Given the description of an element on the screen output the (x, y) to click on. 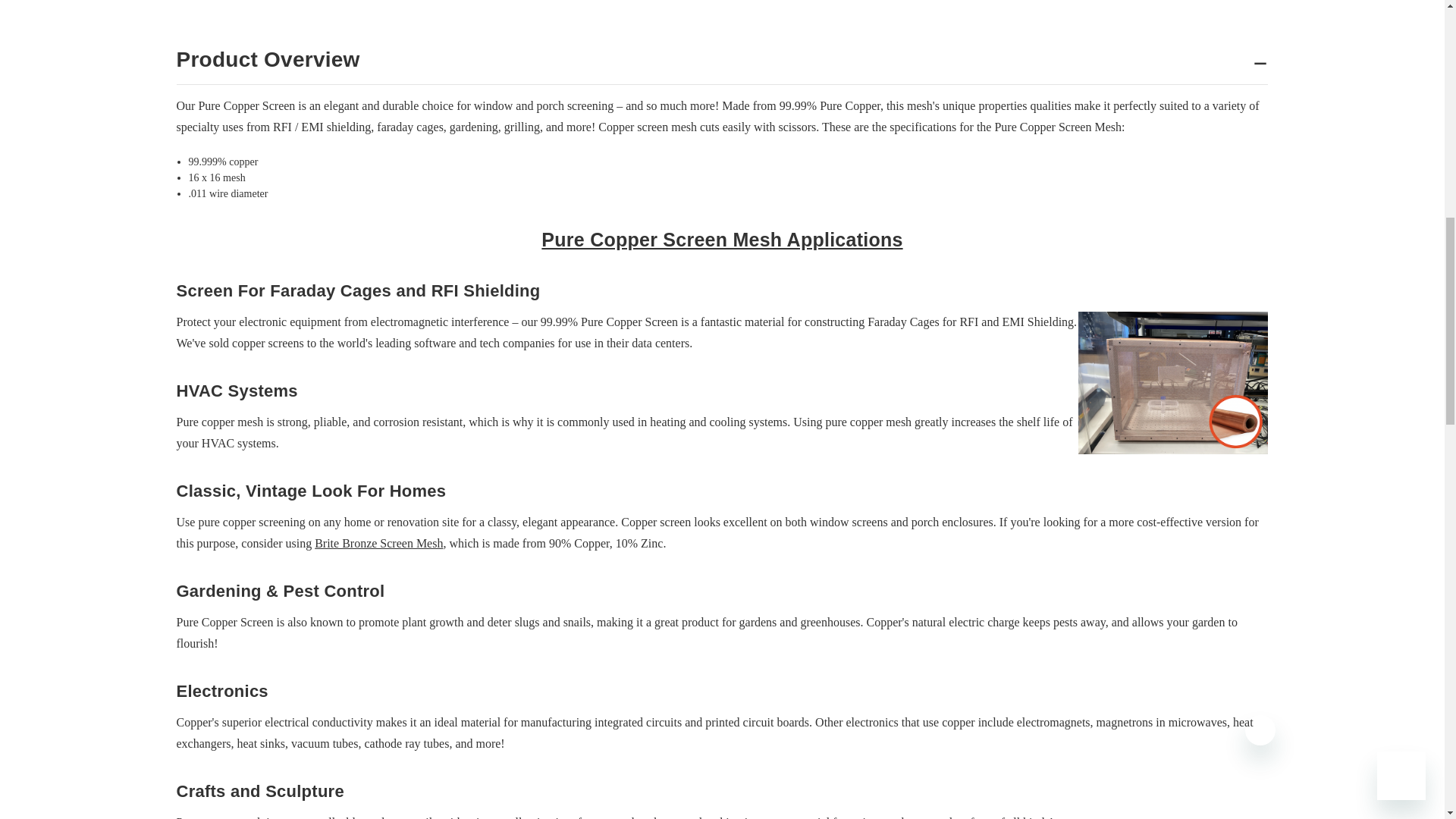
screen-shot-2024-01-24-at-10.17.58-am.png (1173, 383)
